Given the description of an element on the screen output the (x, y) to click on. 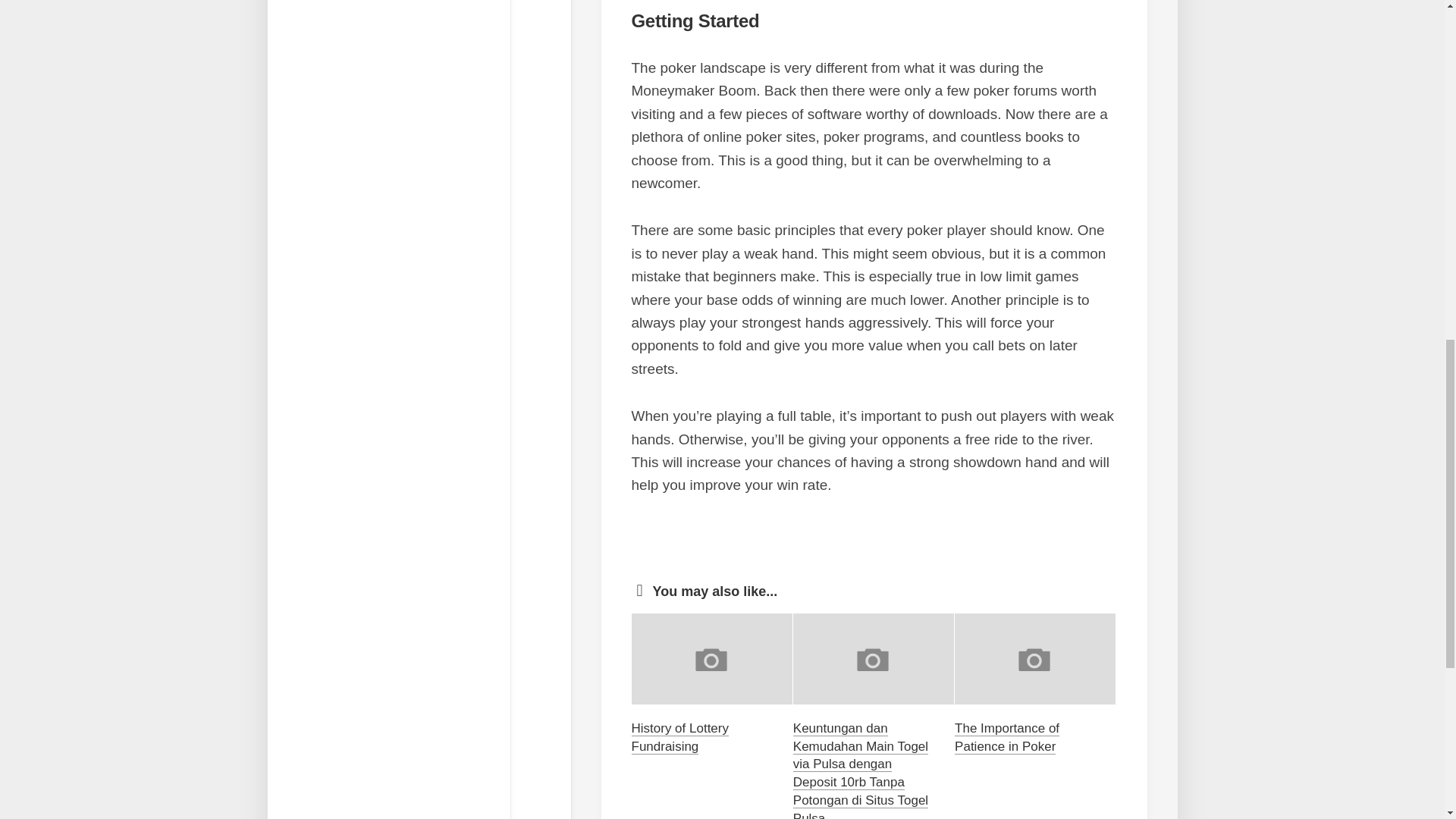
The Importance of Patience in Poker (1007, 737)
History of Lottery Fundraising (679, 737)
